Given the description of an element on the screen output the (x, y) to click on. 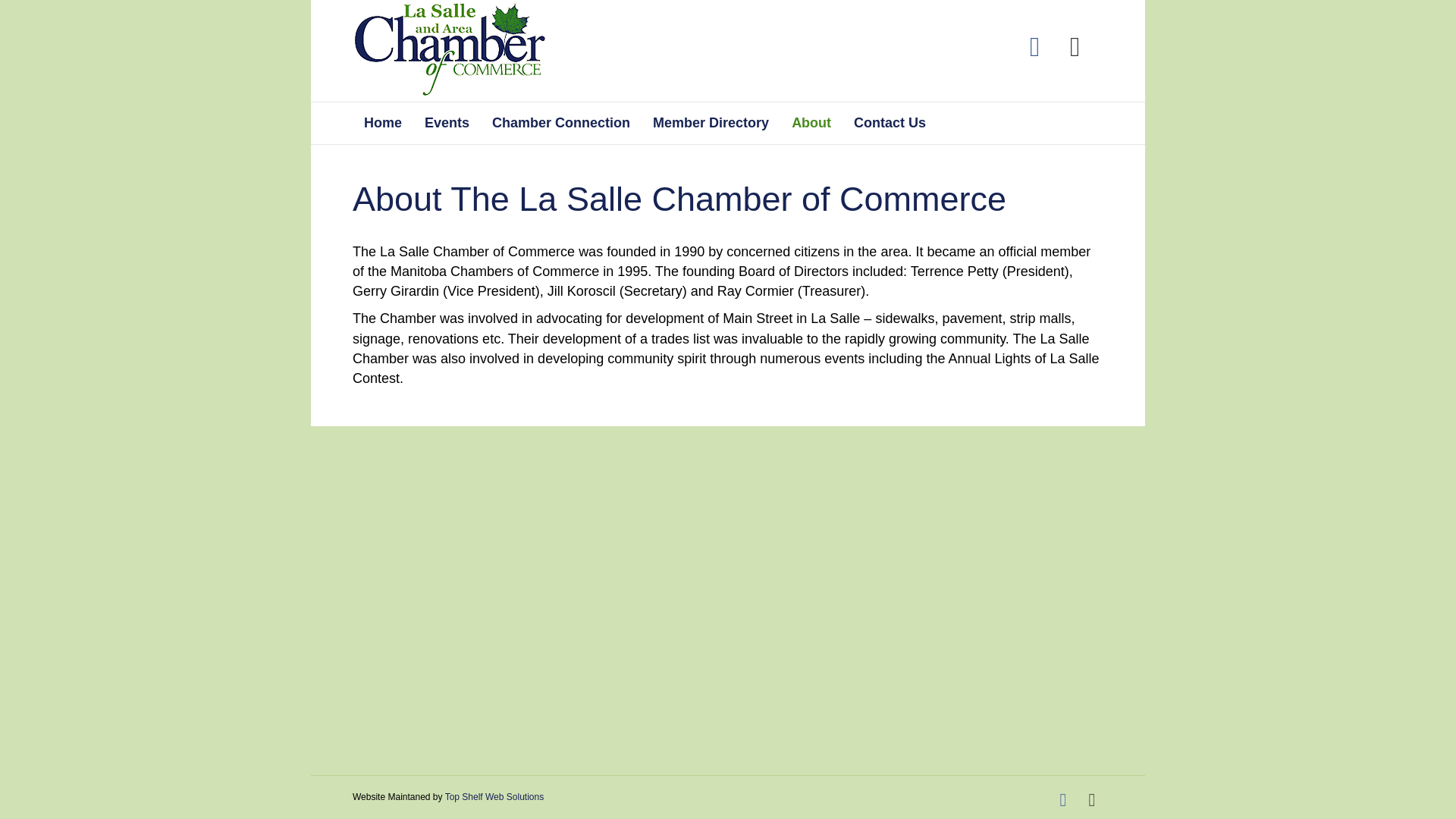
Events (446, 123)
Member Directory (711, 123)
Top Shelf Web Solutions (494, 796)
Email (1075, 46)
Facebook (1034, 46)
About (811, 123)
Contact Us (890, 123)
Home (382, 123)
Facebook (1062, 800)
Chamber Connection (561, 123)
